Given the description of an element on the screen output the (x, y) to click on. 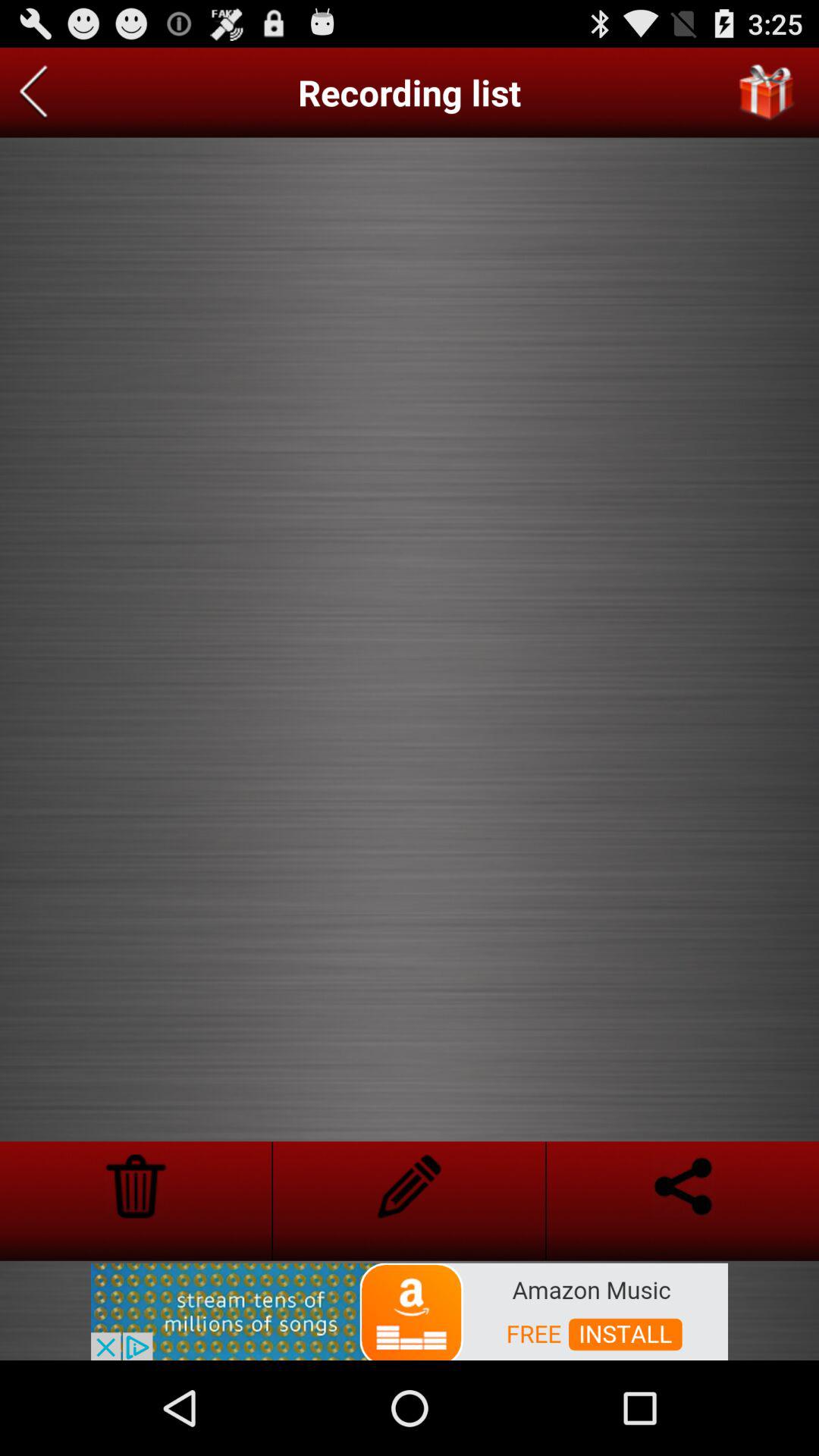
amazon music advertisement (409, 1310)
